Given the description of an element on the screen output the (x, y) to click on. 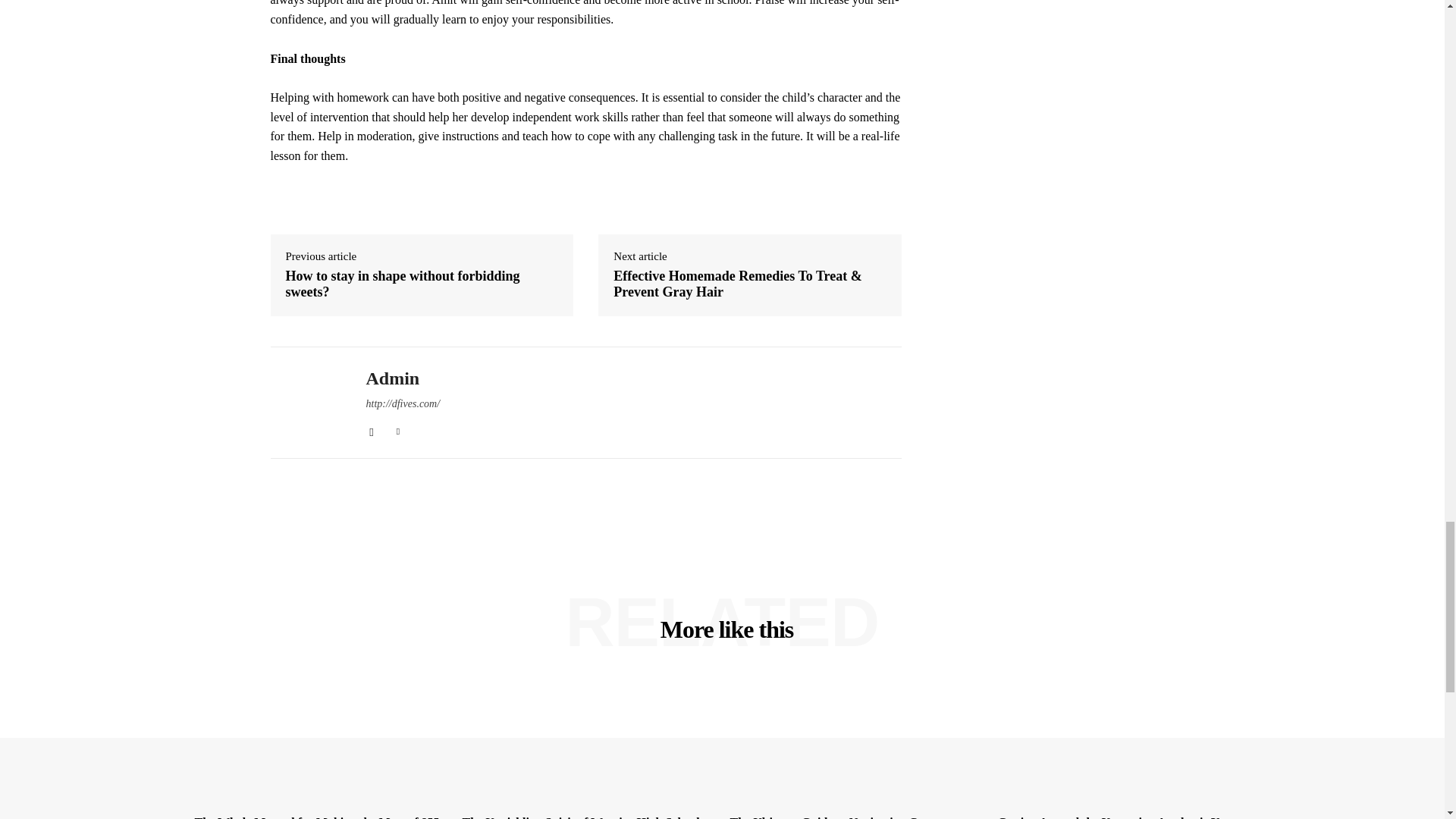
How to stay in shape without forbidding sweets? (421, 284)
Facebook (371, 429)
Admin (305, 402)
Twitter (398, 429)
